Given the description of an element on the screen output the (x, y) to click on. 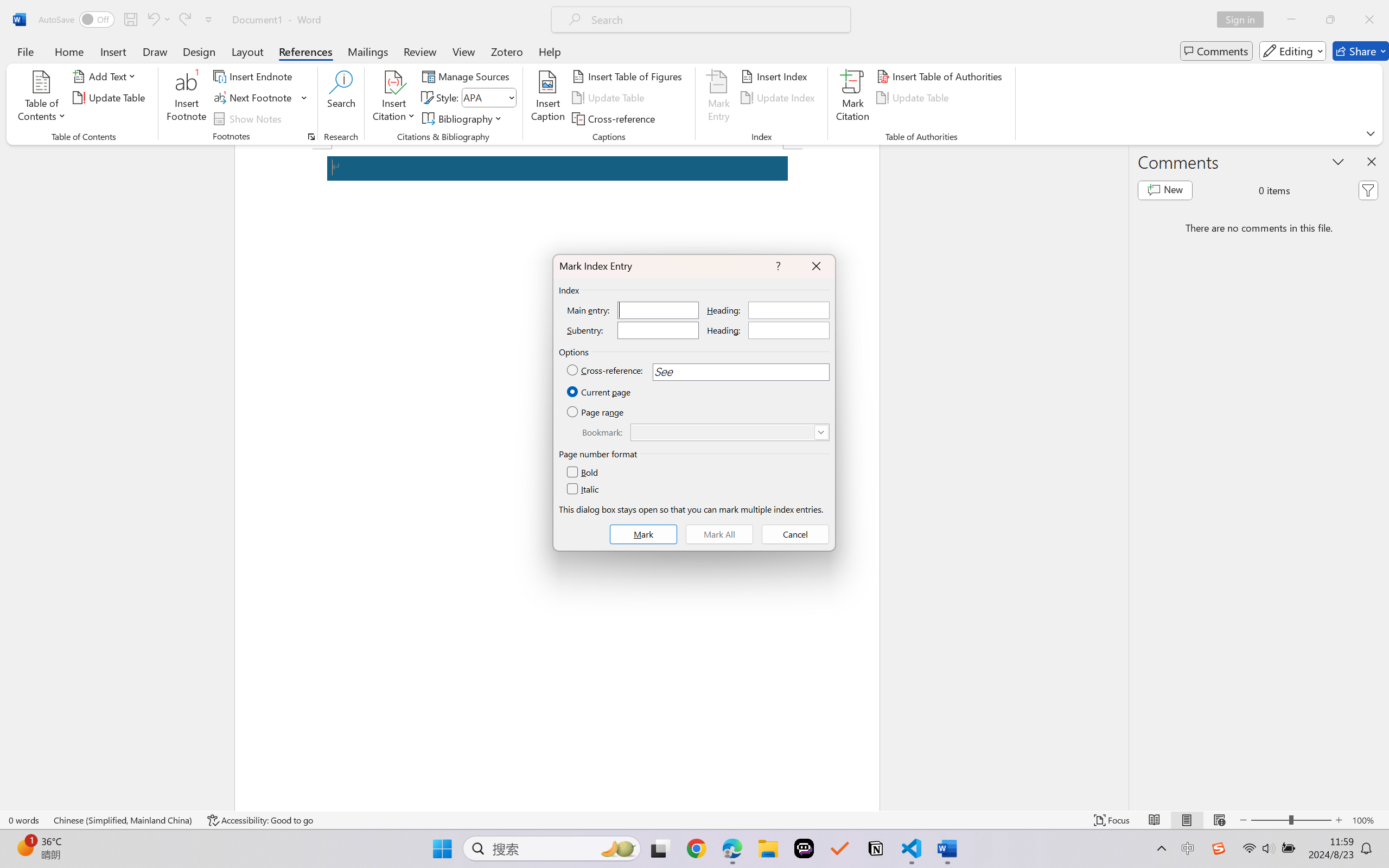
RichEdit Control (722, 432)
Undo Apply Quick Style Set (152, 19)
Heading: (788, 330)
Update Table... (110, 97)
Add Text (106, 75)
